Given the description of an element on the screen output the (x, y) to click on. 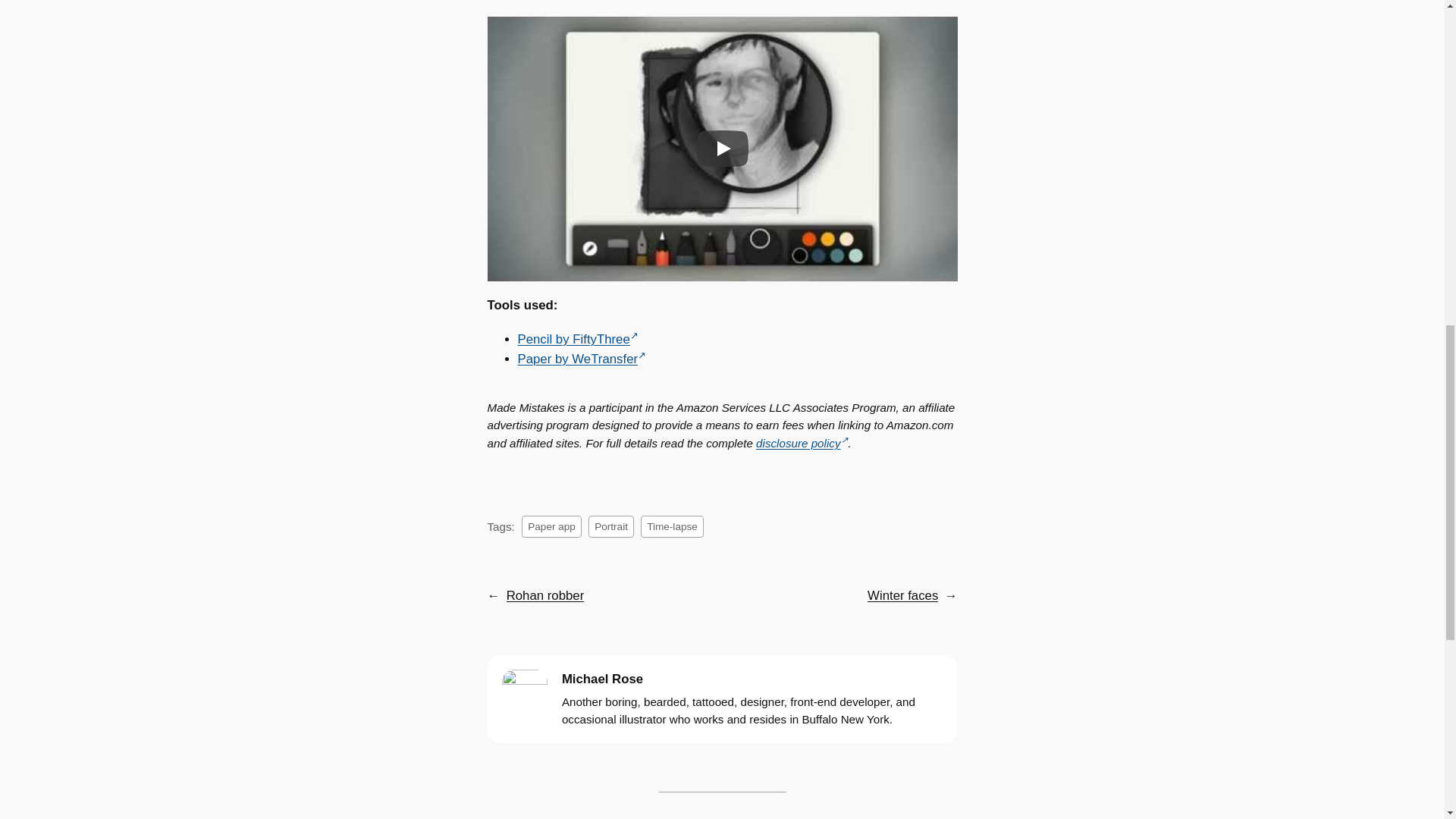
Michael Rose (602, 678)
YouTube video (721, 149)
Time-lapse (671, 526)
Paper by WeTransfer (581, 359)
Pencil by FiftyThree (576, 339)
Rohan robber (545, 596)
Portrait (610, 526)
Winter faces (902, 596)
Play YouTube video (721, 149)
disclosure policy (801, 442)
